Given the description of an element on the screen output the (x, y) to click on. 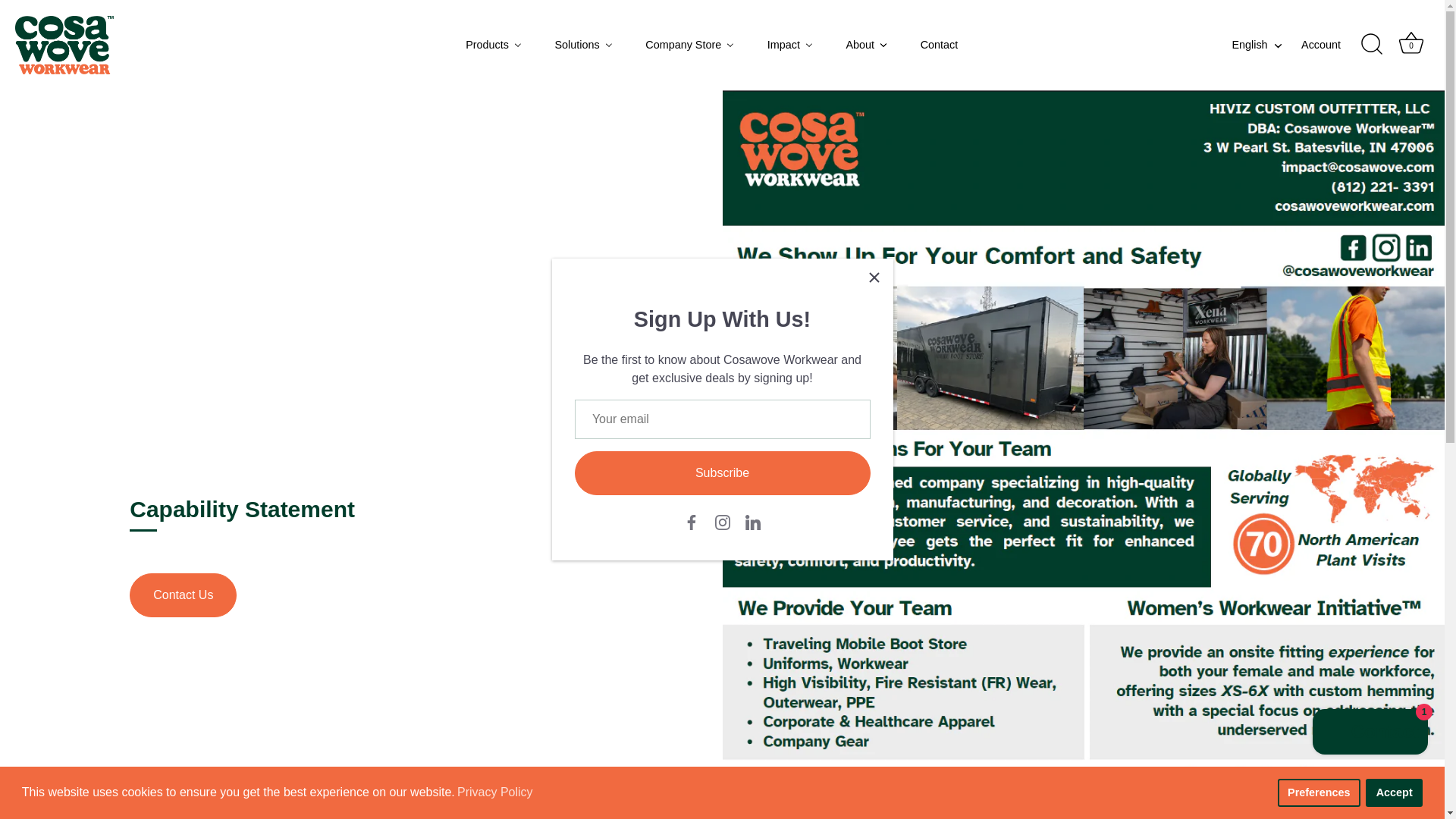
Instagram (721, 522)
Products (493, 44)
Basket (1410, 42)
